Given the description of an element on the screen output the (x, y) to click on. 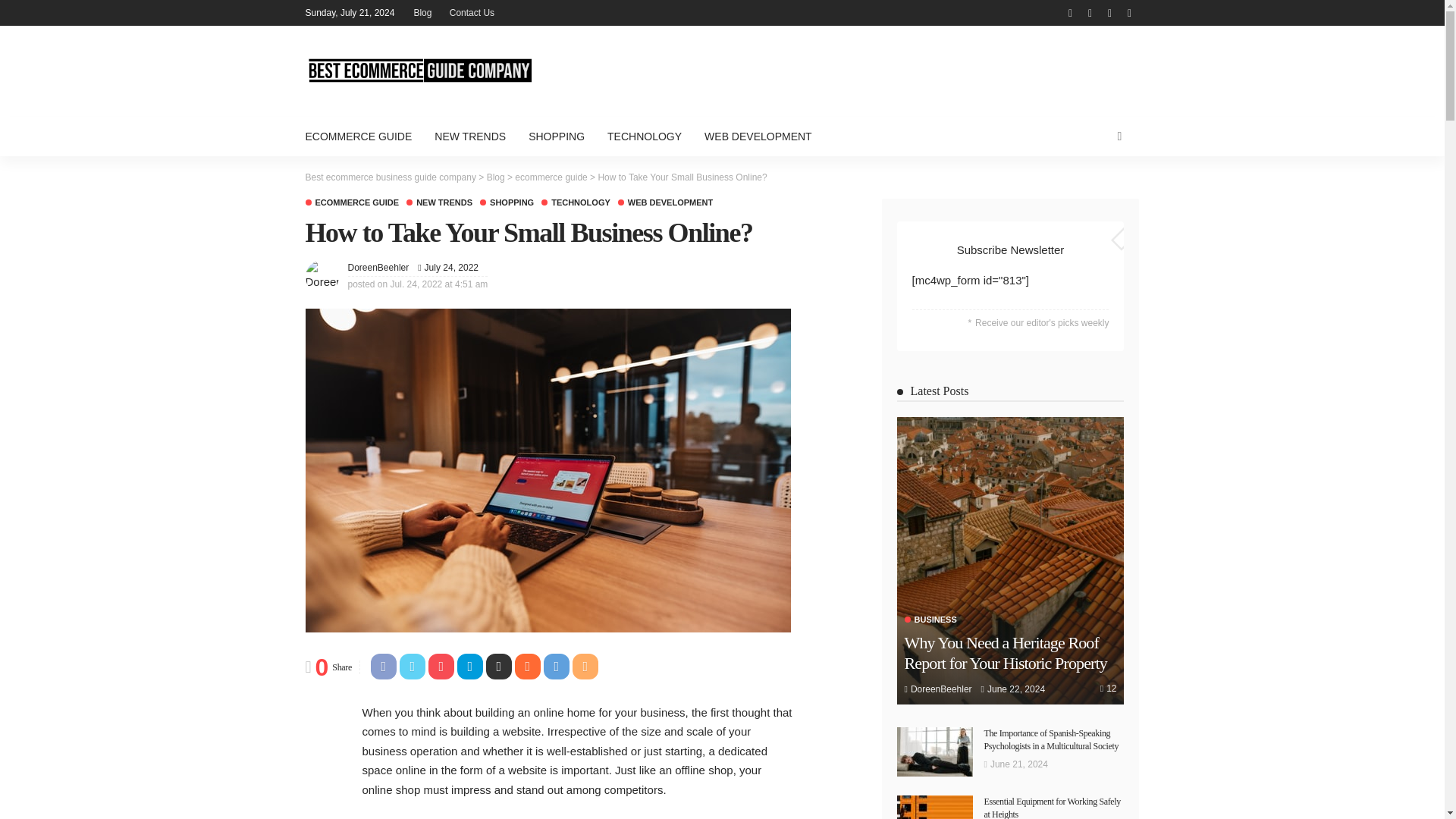
Blog (422, 12)
NEW TRENDS (469, 136)
New trends (438, 203)
ecommerce guide (351, 203)
ecommerce guide (550, 176)
Technology (575, 203)
Blog (495, 176)
WEB DEVELOPMENT (665, 203)
SHOPPING (555, 136)
TECHNOLOGY (644, 136)
NEW TRENDS (438, 203)
ECOMMERCE GUIDE (351, 203)
Go to Blog. (495, 176)
TECHNOLOGY (575, 203)
Go to the ecommerce guide Category archives. (550, 176)
